Given the description of an element on the screen output the (x, y) to click on. 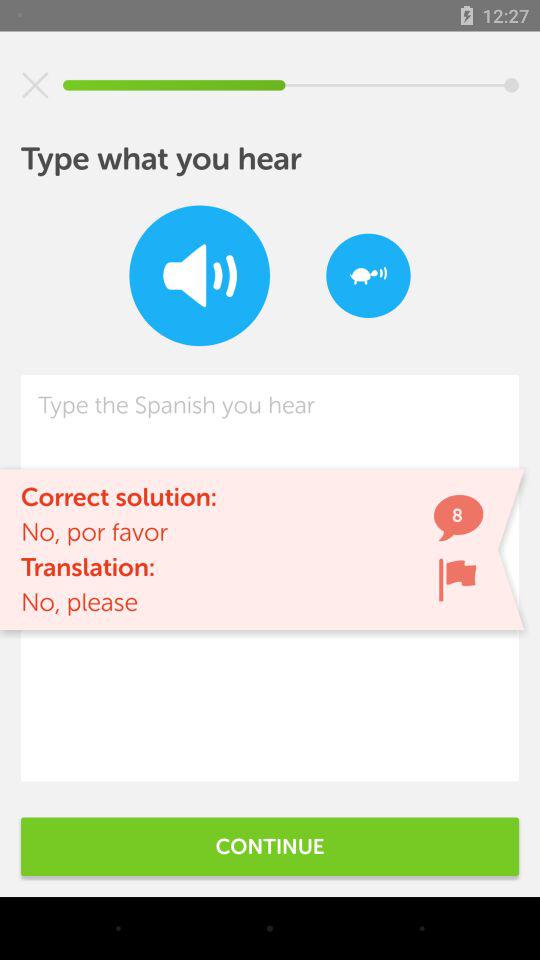
increase volume (199, 275)
